Given the description of an element on the screen output the (x, y) to click on. 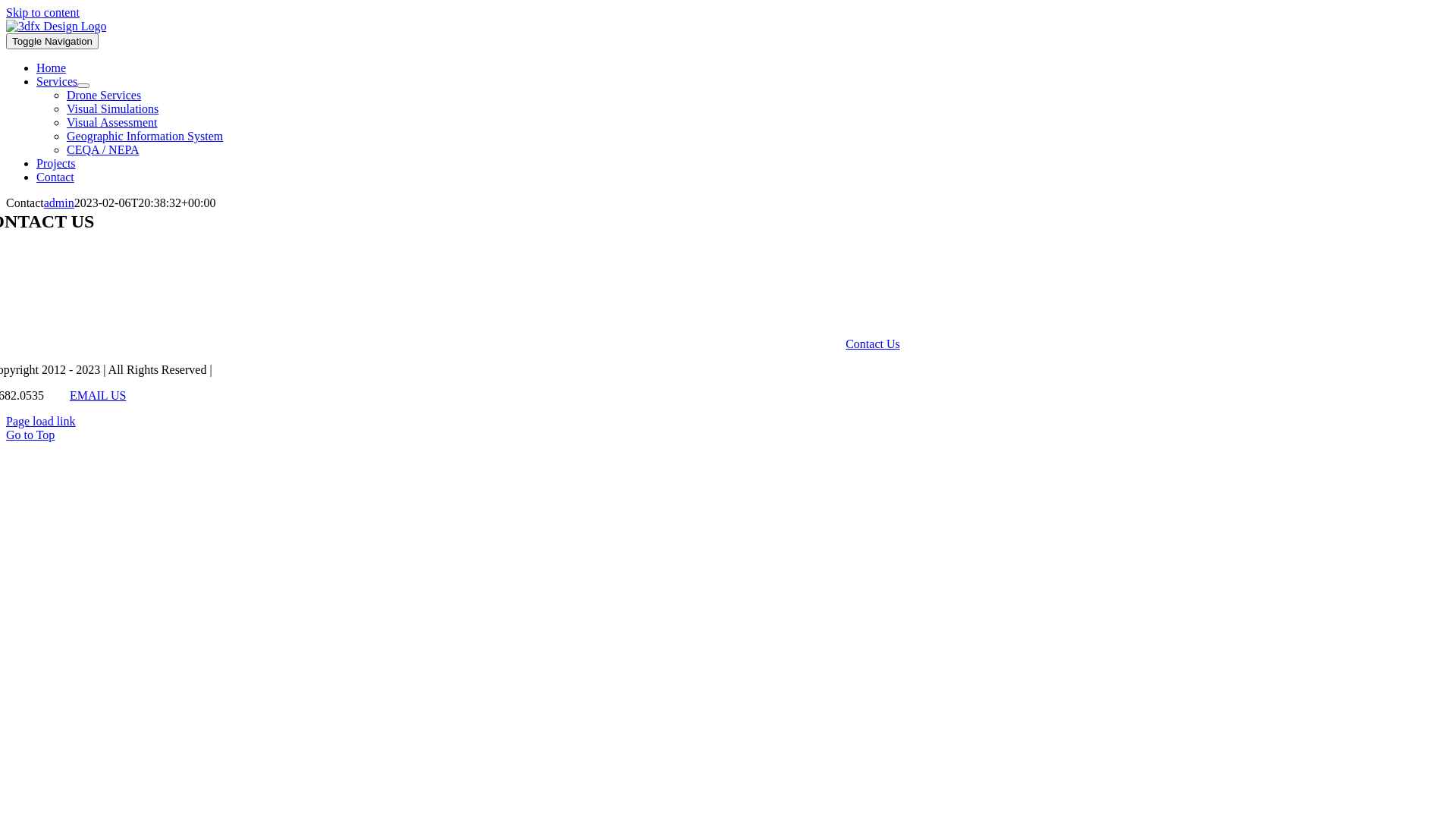
Geographic Information System Element type: text (144, 135)
asouza@3dfxdesign.com Element type: text (267, 250)
Go to Top Element type: text (30, 434)
Contact Us Element type: text (872, 343)
Projects Element type: text (55, 162)
Home Element type: text (50, 67)
Toggle Navigation Element type: text (52, 41)
Skip to content Element type: text (42, 12)
EMAIL US Element type: text (97, 395)
Visual Simulations Element type: text (112, 108)
Drone Services Element type: text (103, 94)
CEQA / NEPA Element type: text (102, 149)
Page load link Element type: text (40, 420)
admin Element type: text (58, 202)
Services Element type: text (56, 81)
Visual Assessment Element type: text (111, 122)
Contact Element type: text (55, 176)
